Given the description of an element on the screen output the (x, y) to click on. 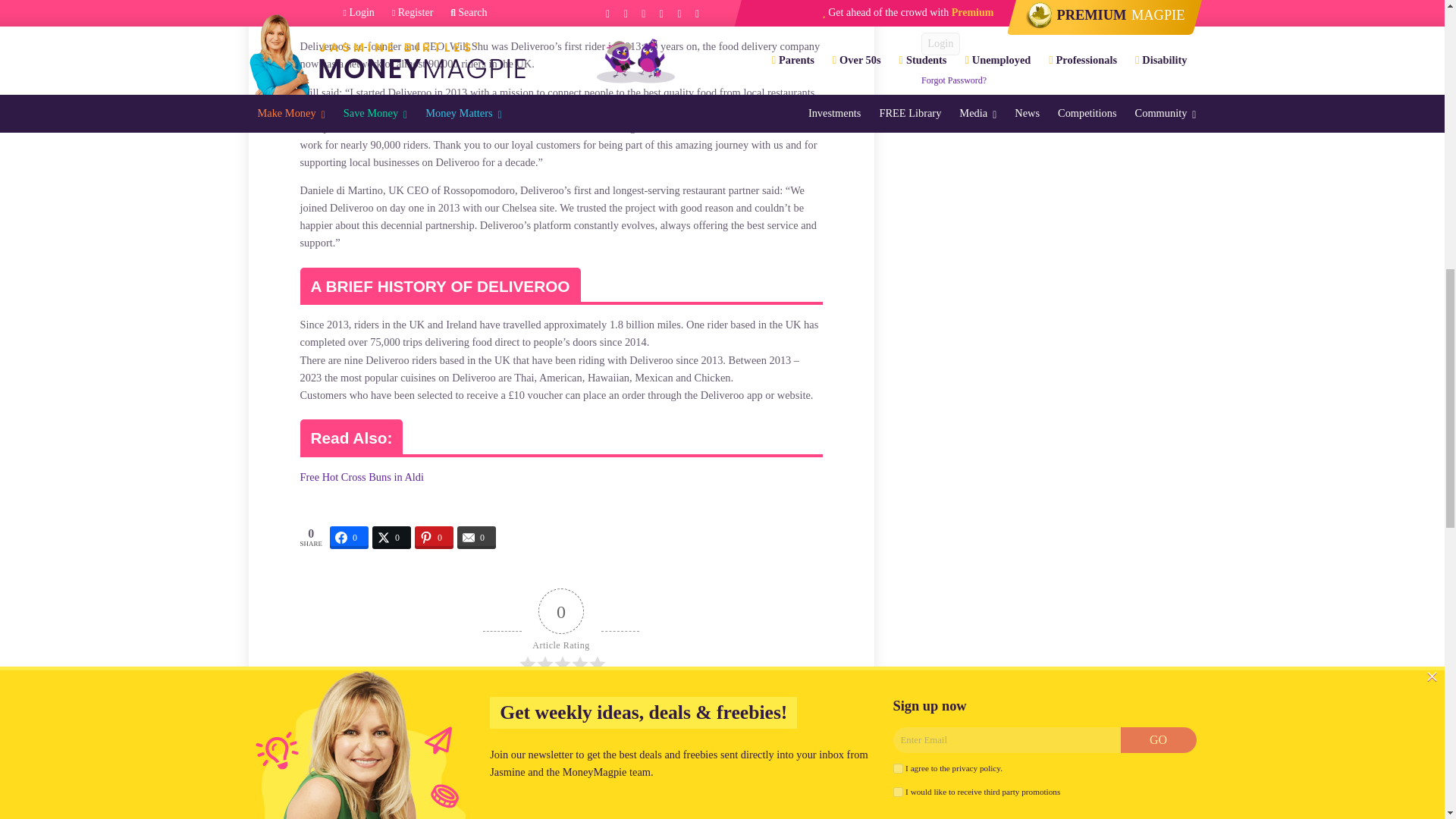
Share on Pinterest (433, 537)
Share on Email (476, 537)
Share on Twitter (391, 537)
Login (940, 44)
Share on Facebook (349, 537)
1 (926, 6)
